Given the description of an element on the screen output the (x, y) to click on. 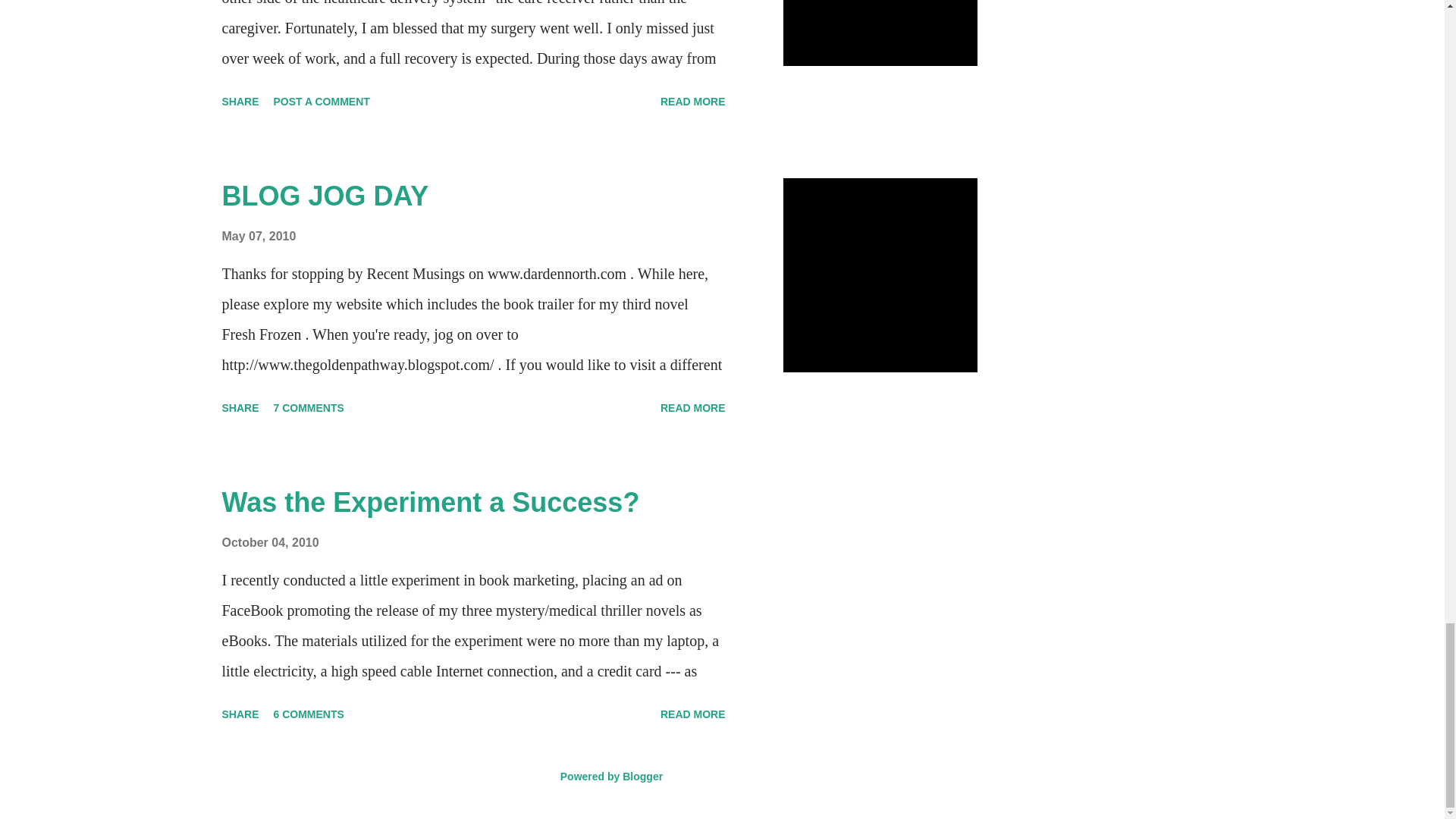
Was the Experiment a Success? (430, 501)
BLOG JOG DAY (324, 195)
SHARE (239, 713)
6 COMMENTS (308, 713)
READ MORE (692, 713)
7 COMMENTS (308, 407)
READ MORE (692, 407)
POST A COMMENT (321, 101)
READ MORE (692, 101)
SHARE (239, 407)
